Given the description of an element on the screen output the (x, y) to click on. 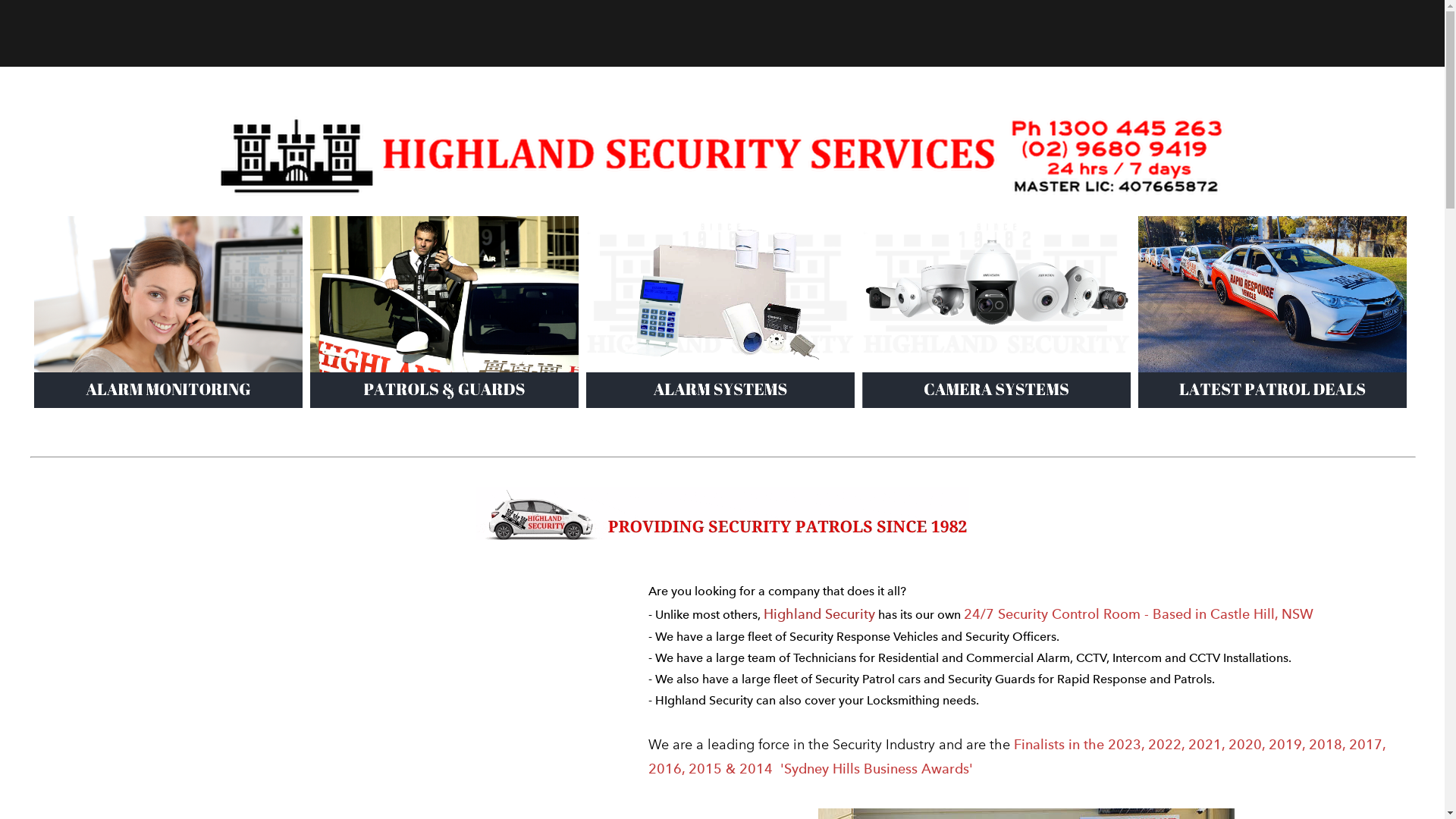
Patrols & Guards Element type: text (444, 216)
Patrol Deals Element type: text (1272, 216)
Camera Systems Element type: text (996, 216)
Alarm Monitoring Element type: text (168, 216)
Alarm Systems Element type: text (720, 216)
